Given the description of an element on the screen output the (x, y) to click on. 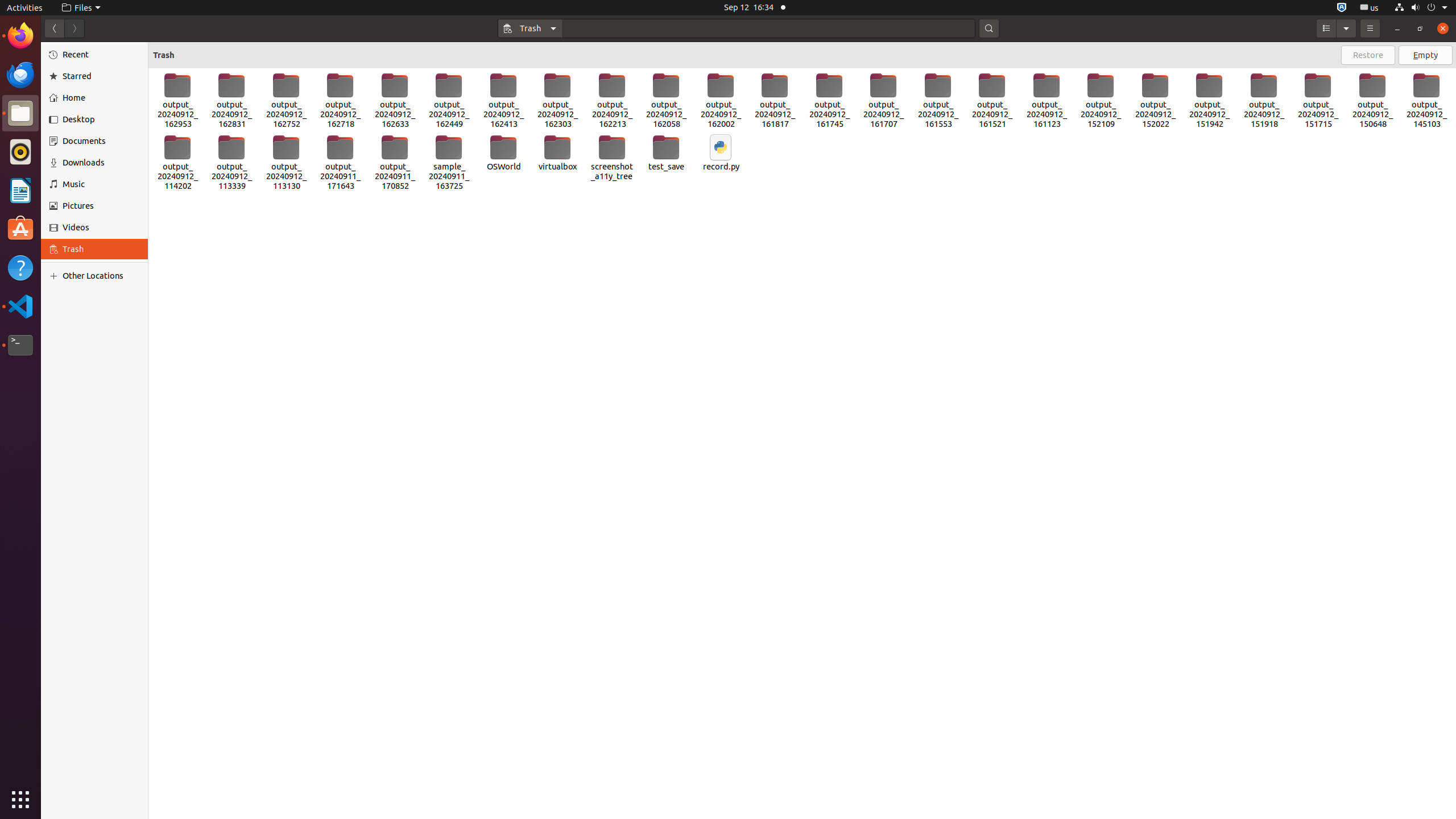
output_20240912_162002 Element type: canvas (720, 100)
output_20240912_162953 Element type: canvas (177, 100)
Terminal Element type: push-button (20, 344)
output_20240912_161123 Element type: canvas (1046, 100)
